Given the description of an element on the screen output the (x, y) to click on. 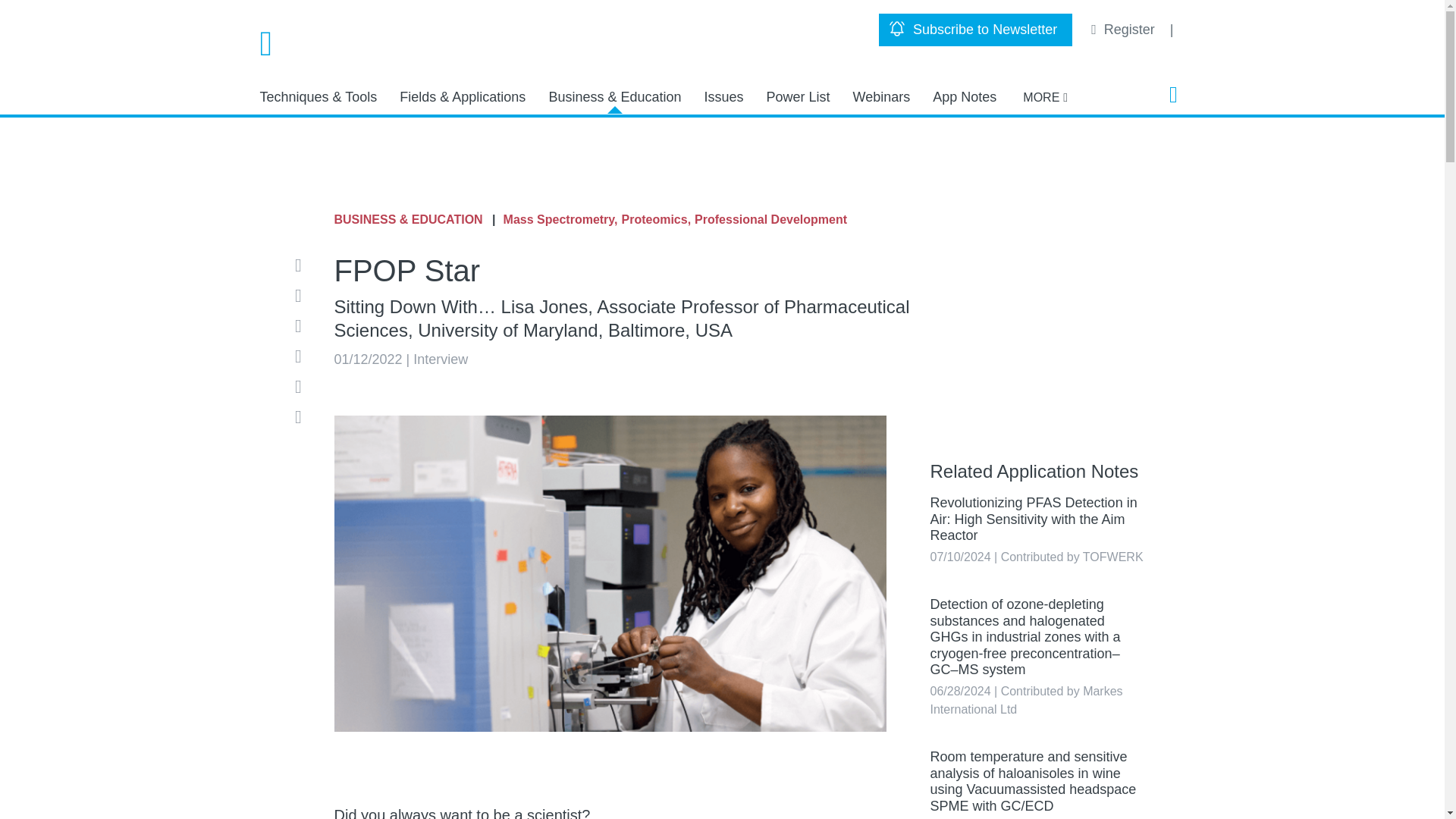
Share this article on Facebook (302, 295)
Mass Spectrometry, (560, 219)
Subscribe to Newsletter (975, 29)
Professional Development (770, 219)
Print this article (302, 416)
Register (1124, 29)
Proteomics, (656, 219)
Issues (722, 96)
MORE (1045, 97)
Share this article on Doximity (302, 386)
